Given the description of an element on the screen output the (x, y) to click on. 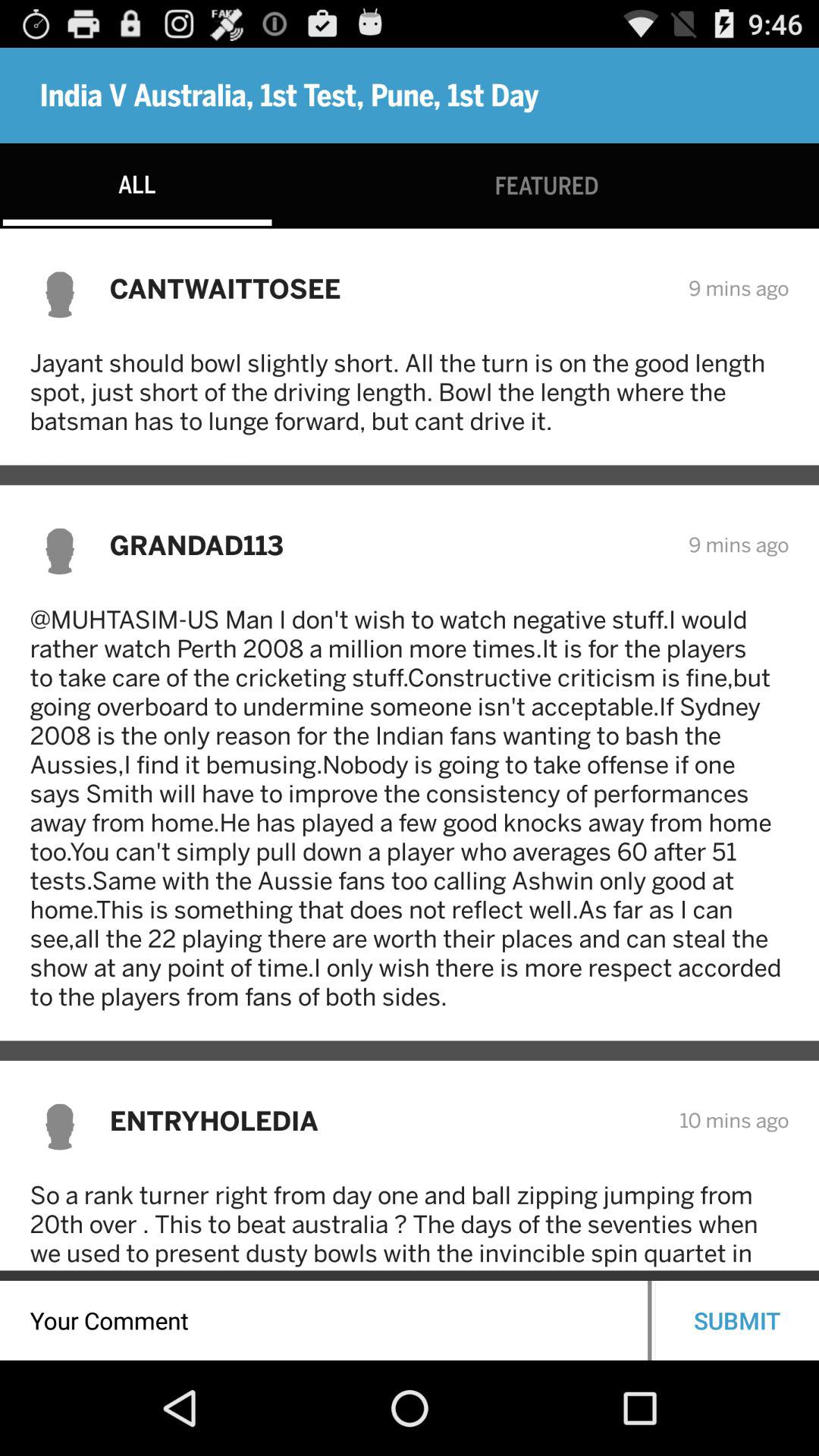
open item above jayant should bowl icon (388, 288)
